Given the description of an element on the screen output the (x, y) to click on. 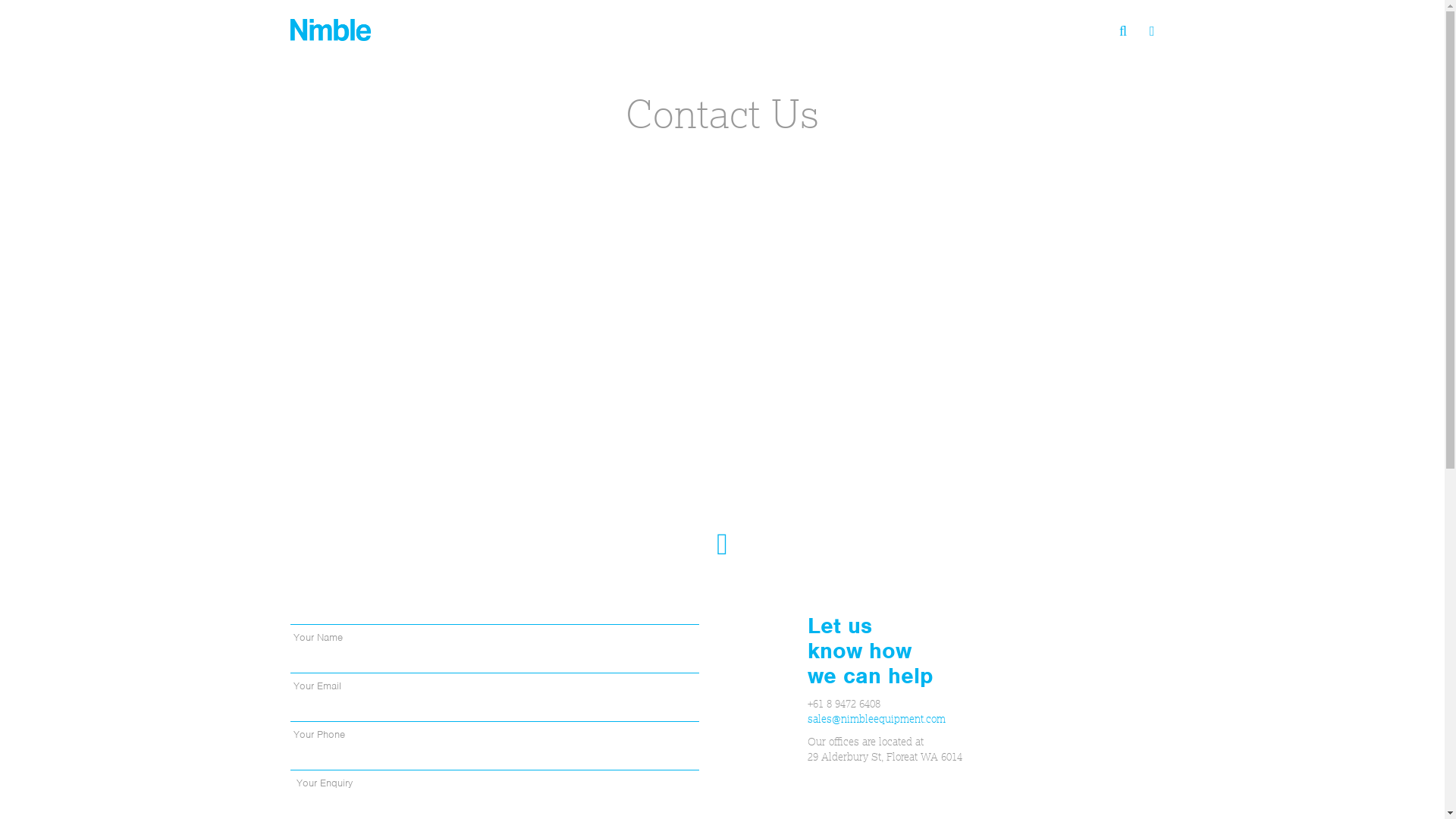
sales@nimbleequipment.com Element type: text (876, 718)
